Given the description of an element on the screen output the (x, y) to click on. 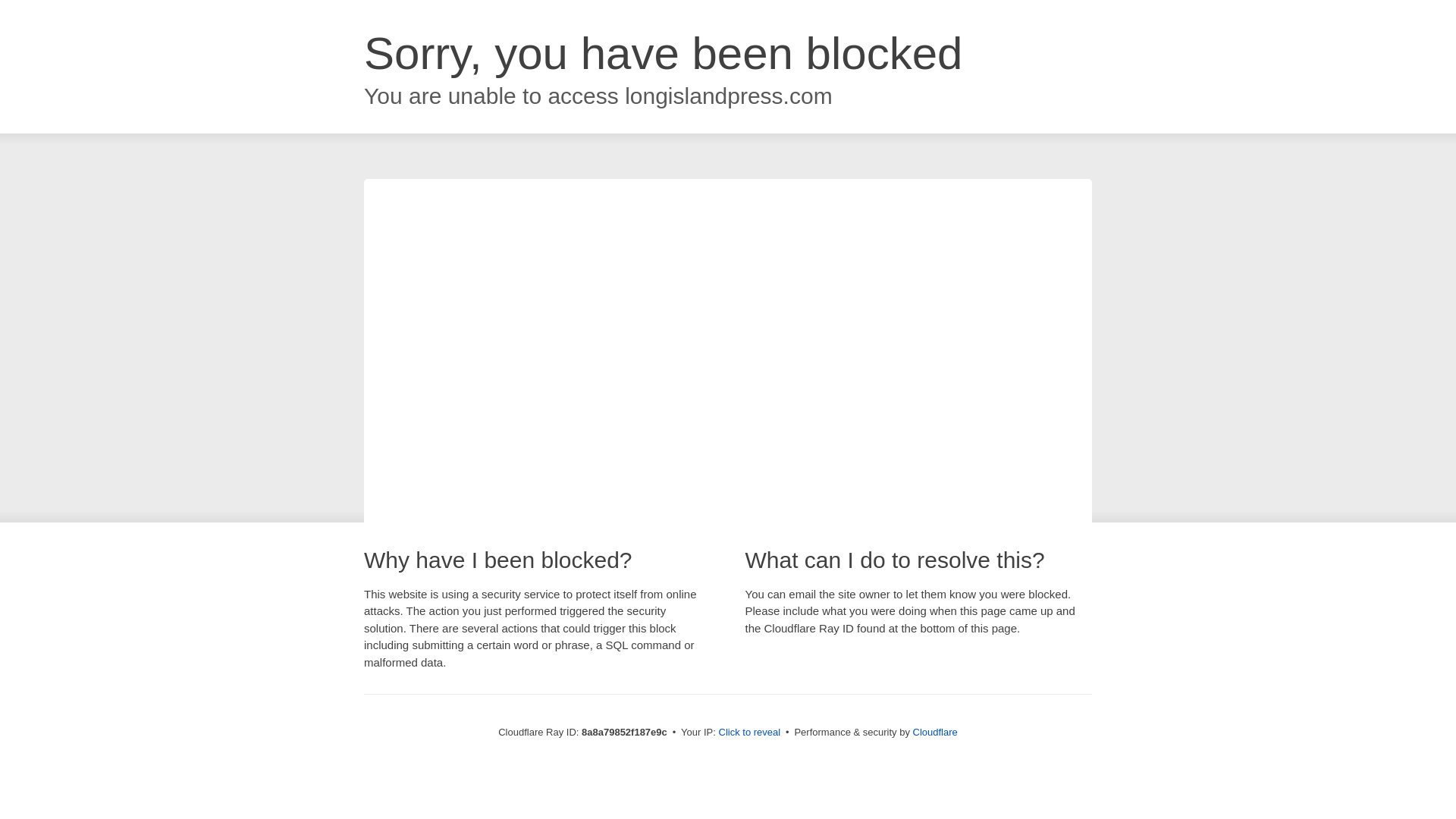
Cloudflare (935, 731)
Click to reveal (749, 732)
